Given the description of an element on the screen output the (x, y) to click on. 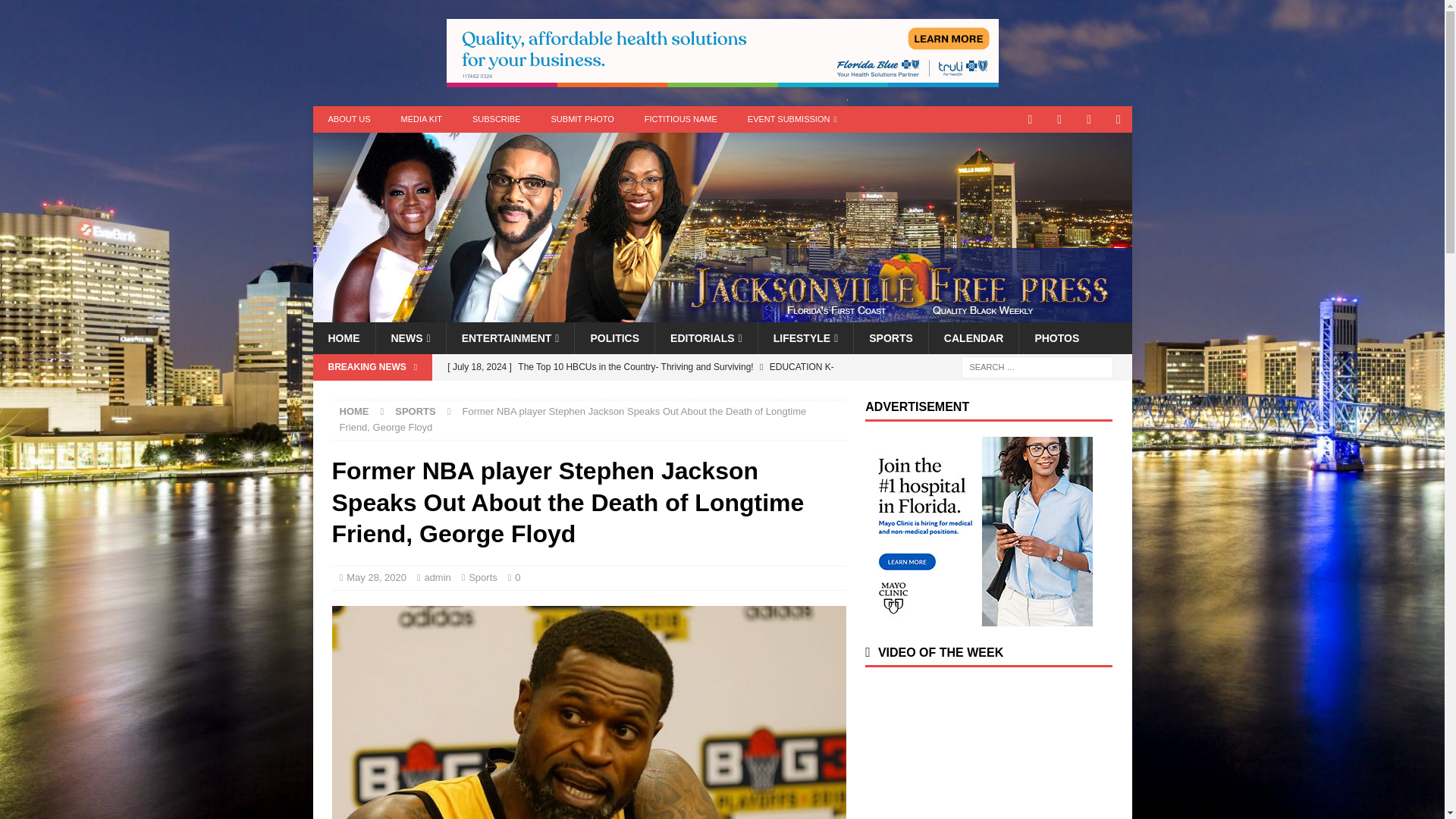
MEDIA KIT (421, 119)
stephen-jackson (588, 712)
The Top 10 HBCUs in the Country- Thriving and Surviving! (640, 379)
Free Press of Jacksonville (722, 313)
Facebook (1088, 119)
FICTITIOUS NAME (680, 119)
twitter (1059, 119)
rss (1118, 119)
contact (1029, 119)
SUBSCRIBE (496, 119)
ABOUT US (349, 119)
EVENT SUBMISSION (791, 119)
SUBMIT PHOTO (581, 119)
